Given the description of an element on the screen output the (x, y) to click on. 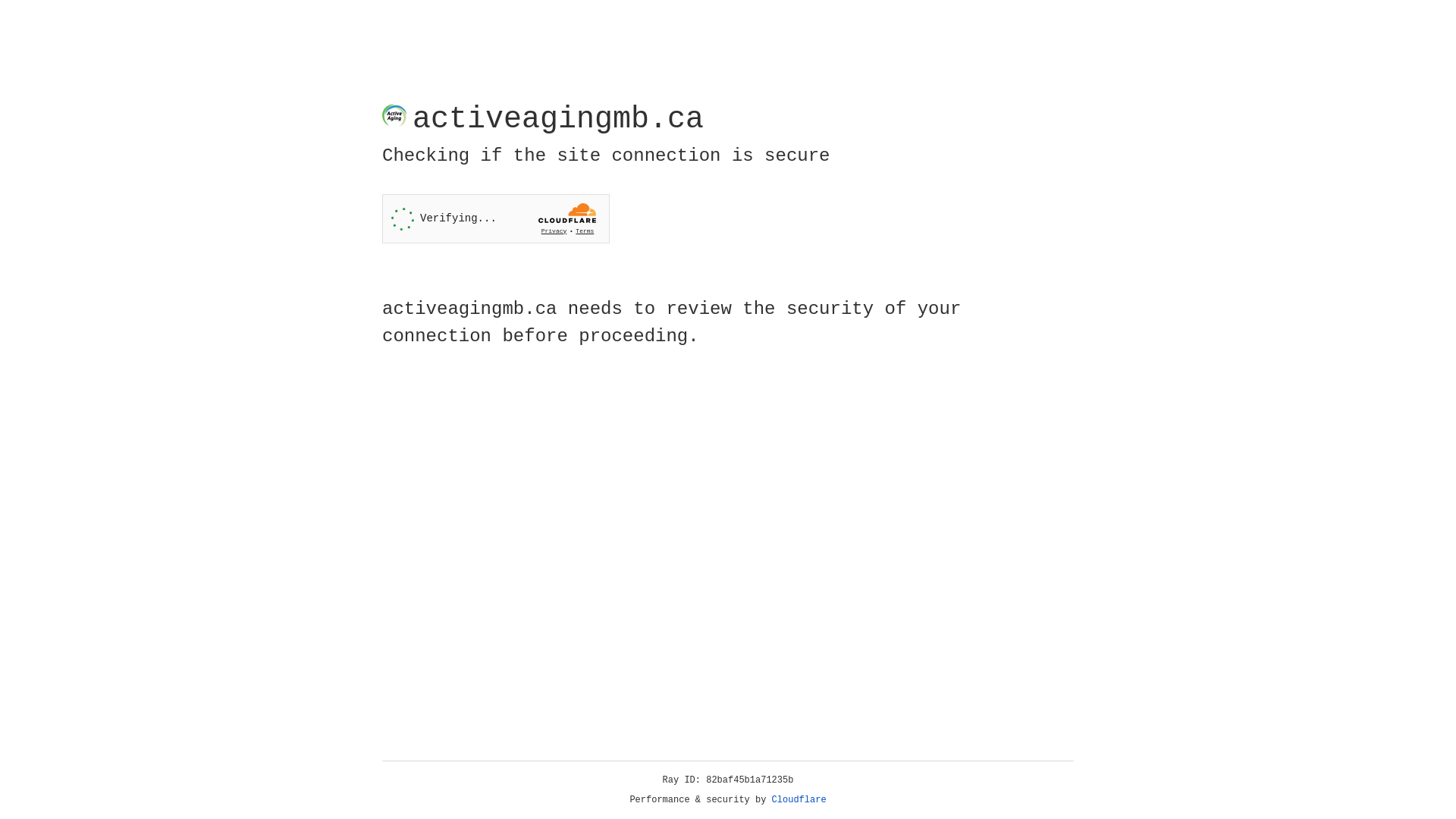
Widget containing a Cloudflare security challenge Element type: hover (495, 218)
Cloudflare Element type: text (798, 799)
